Given the description of an element on the screen output the (x, y) to click on. 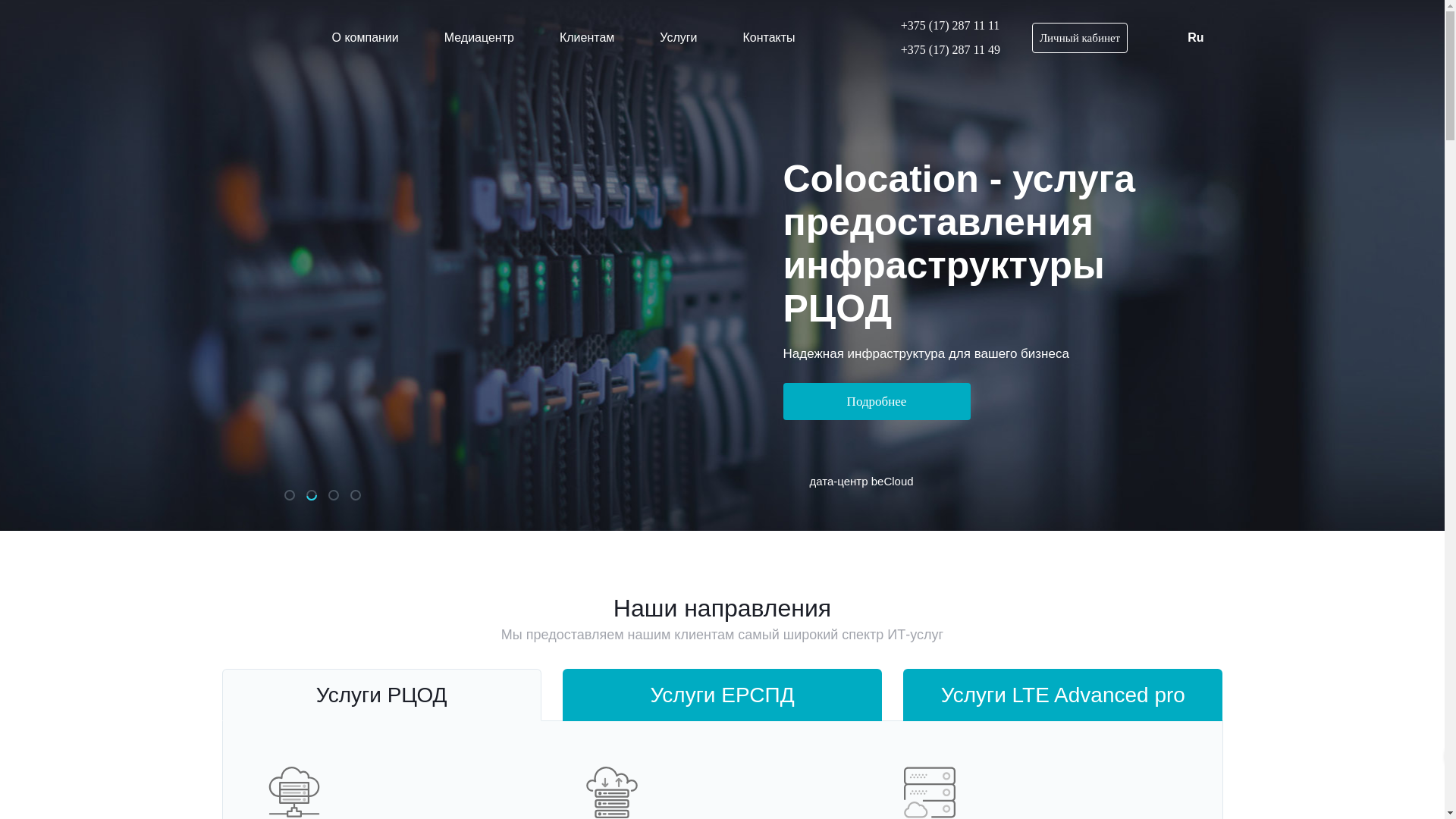
beCloud Element type: hover (257, 37)
+375 (17) 287 11 49 Element type: text (941, 49)
+375 (17) 287 11 11 Element type: text (941, 25)
